Given the description of an element on the screen output the (x, y) to click on. 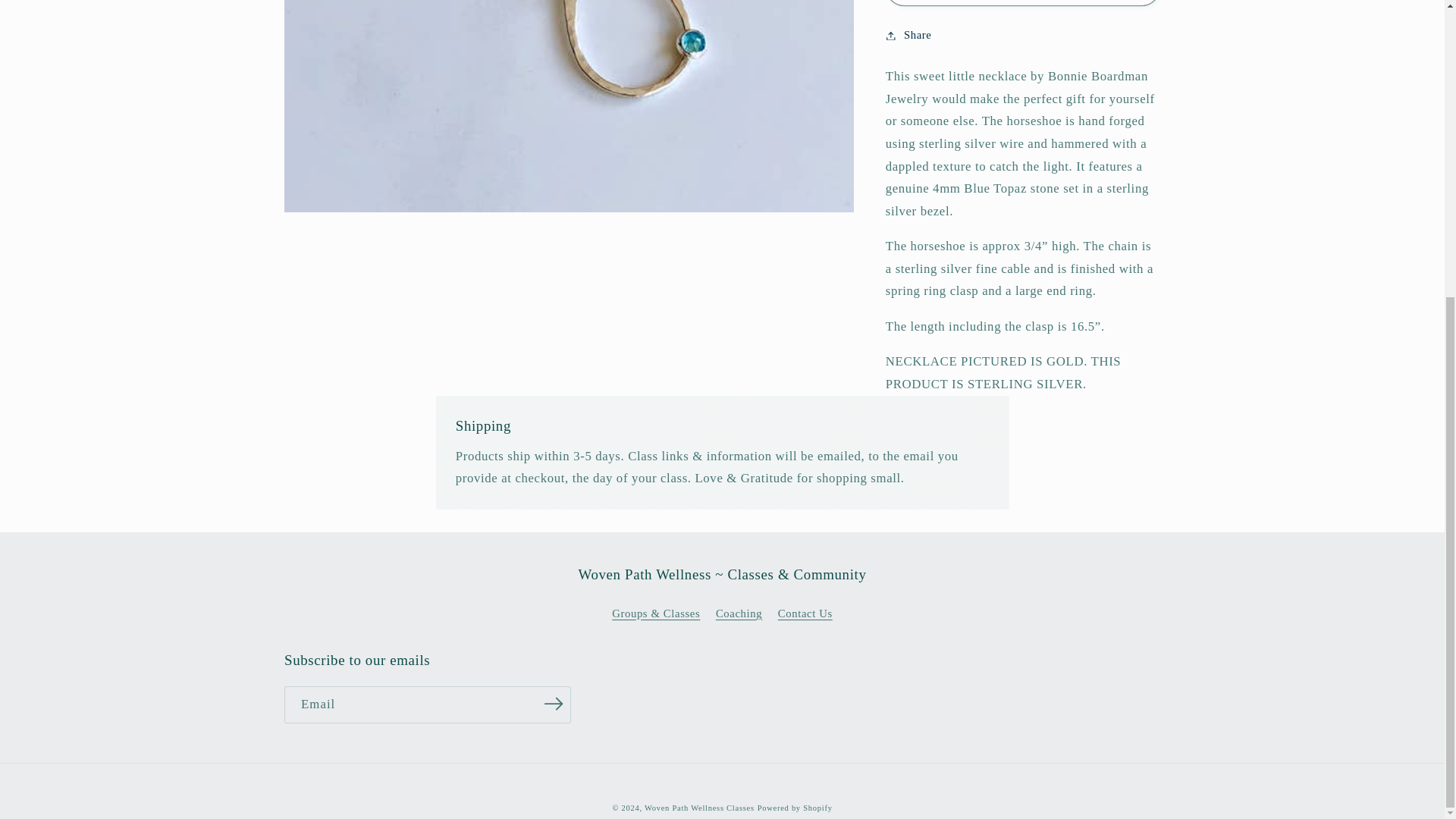
Woven Path Wellness Classes (699, 807)
Coaching (738, 613)
Contact Us (804, 613)
Powered by Shopify (794, 807)
